Given the description of an element on the screen output the (x, y) to click on. 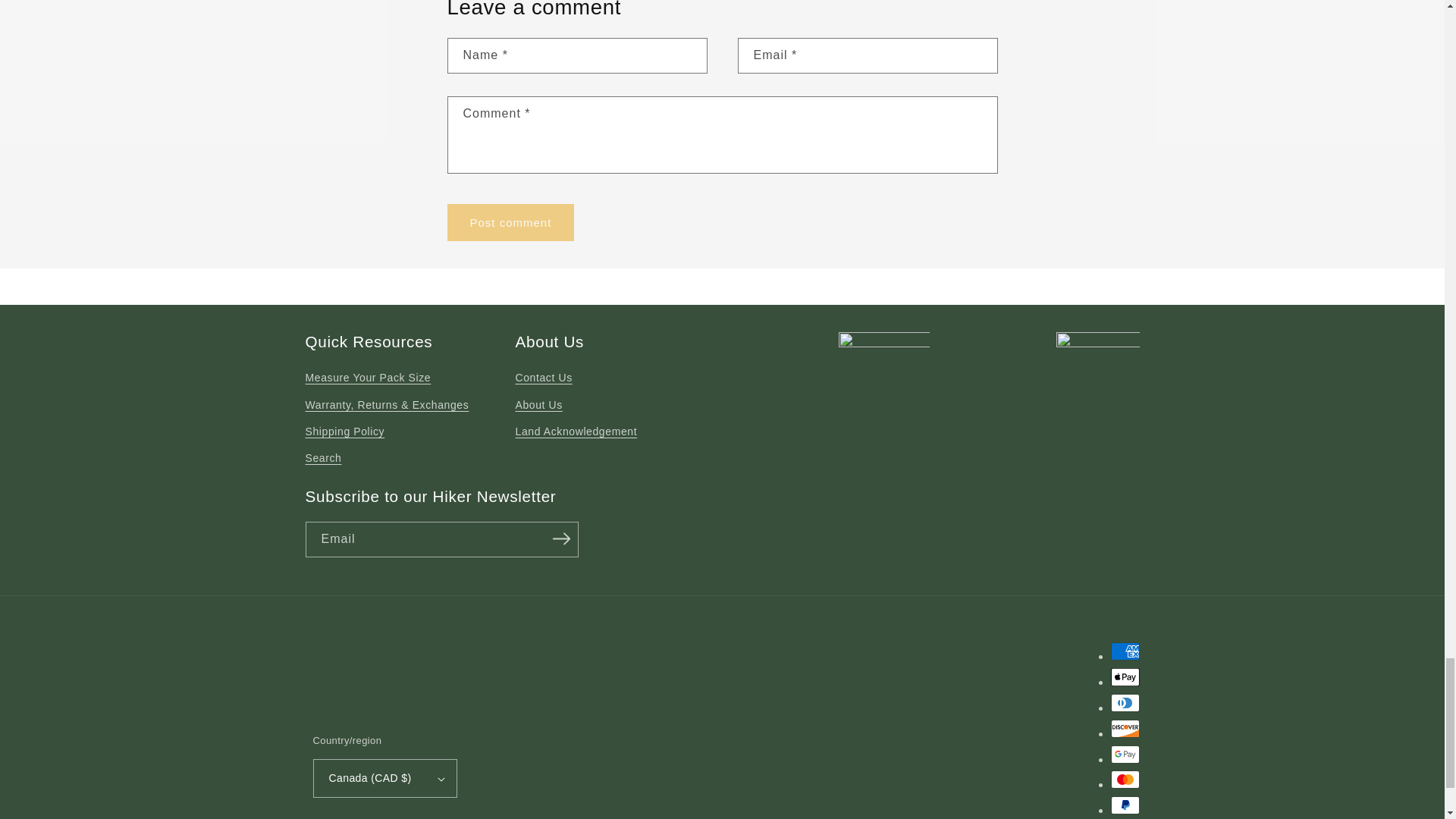
Post comment (510, 221)
Google Pay (1123, 754)
American Express (1123, 651)
Diners Club (1123, 702)
Mastercard (1123, 779)
Discover (1123, 728)
Apple Pay (1123, 677)
PayPal (1123, 805)
